Given the description of an element on the screen output the (x, y) to click on. 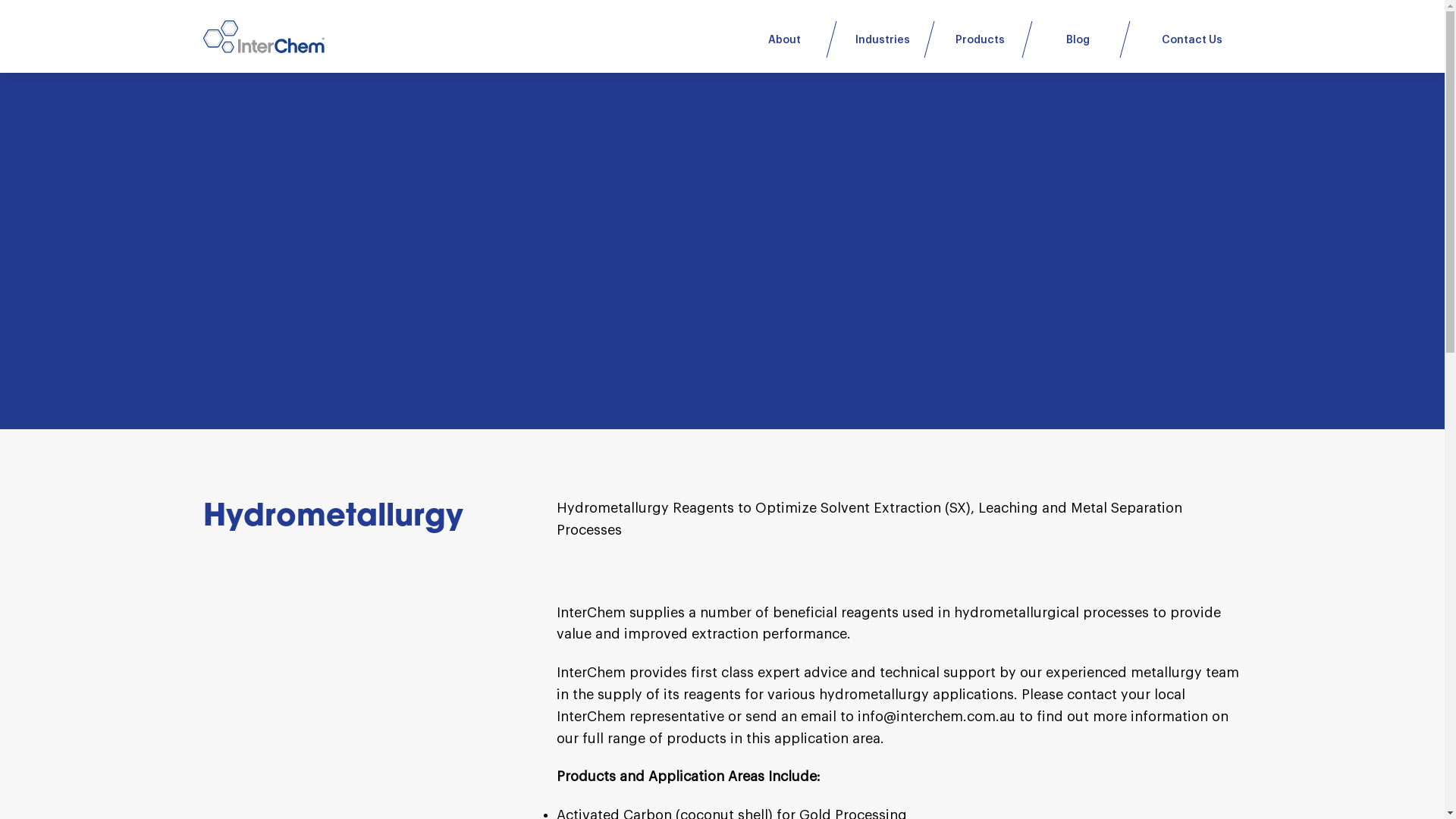
Contact Us Element type: text (1185, 39)
Industries Element type: text (881, 39)
Blog Element type: text (1077, 39)
Products Element type: text (980, 39)
About Element type: text (784, 39)
